Given the description of an element on the screen output the (x, y) to click on. 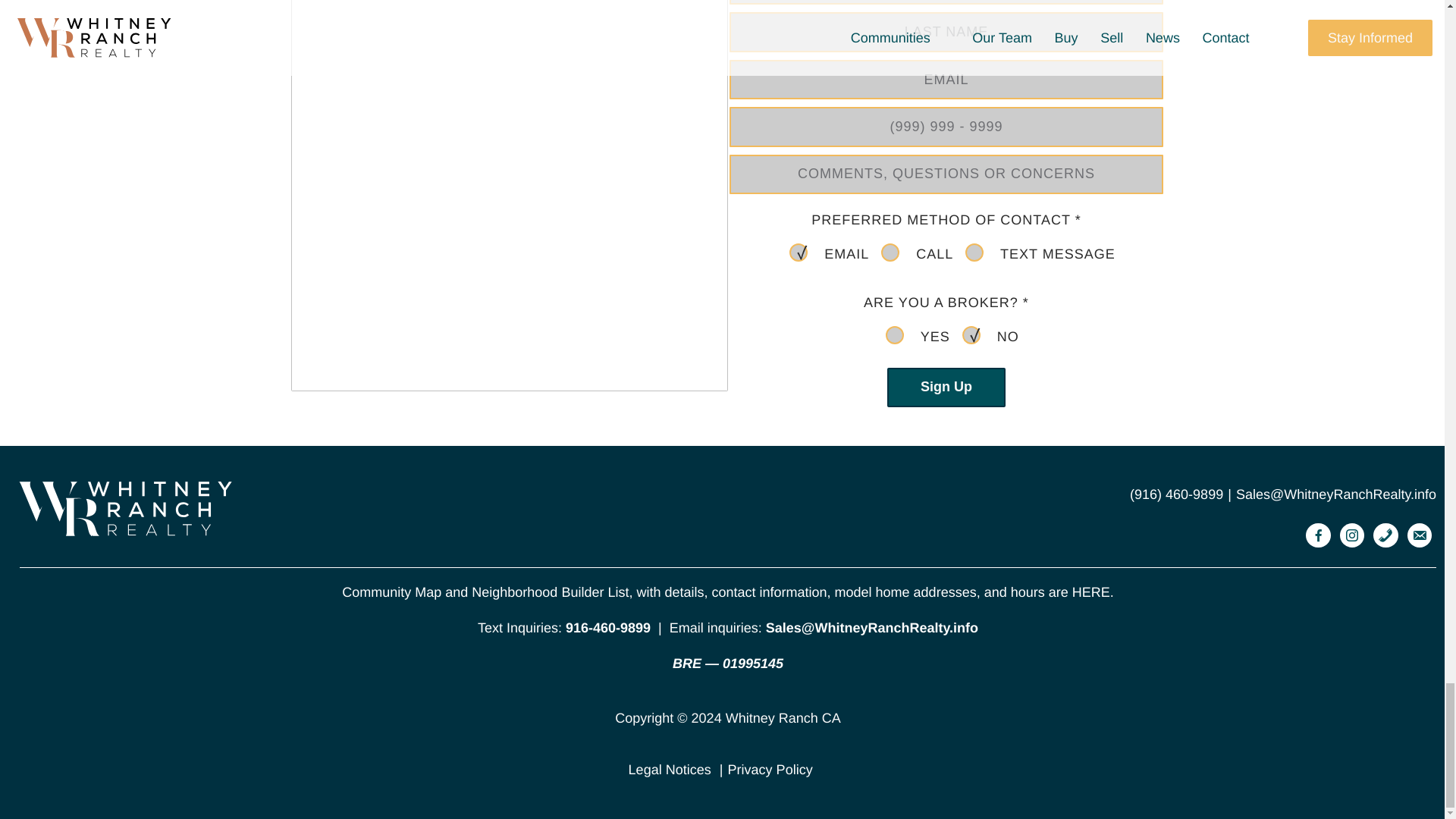
WRR Broker (894, 334)
Call Me (889, 252)
Text Me (974, 252)
Email Me (798, 252)
WRR Lead (970, 334)
